Given the description of an element on the screen output the (x, y) to click on. 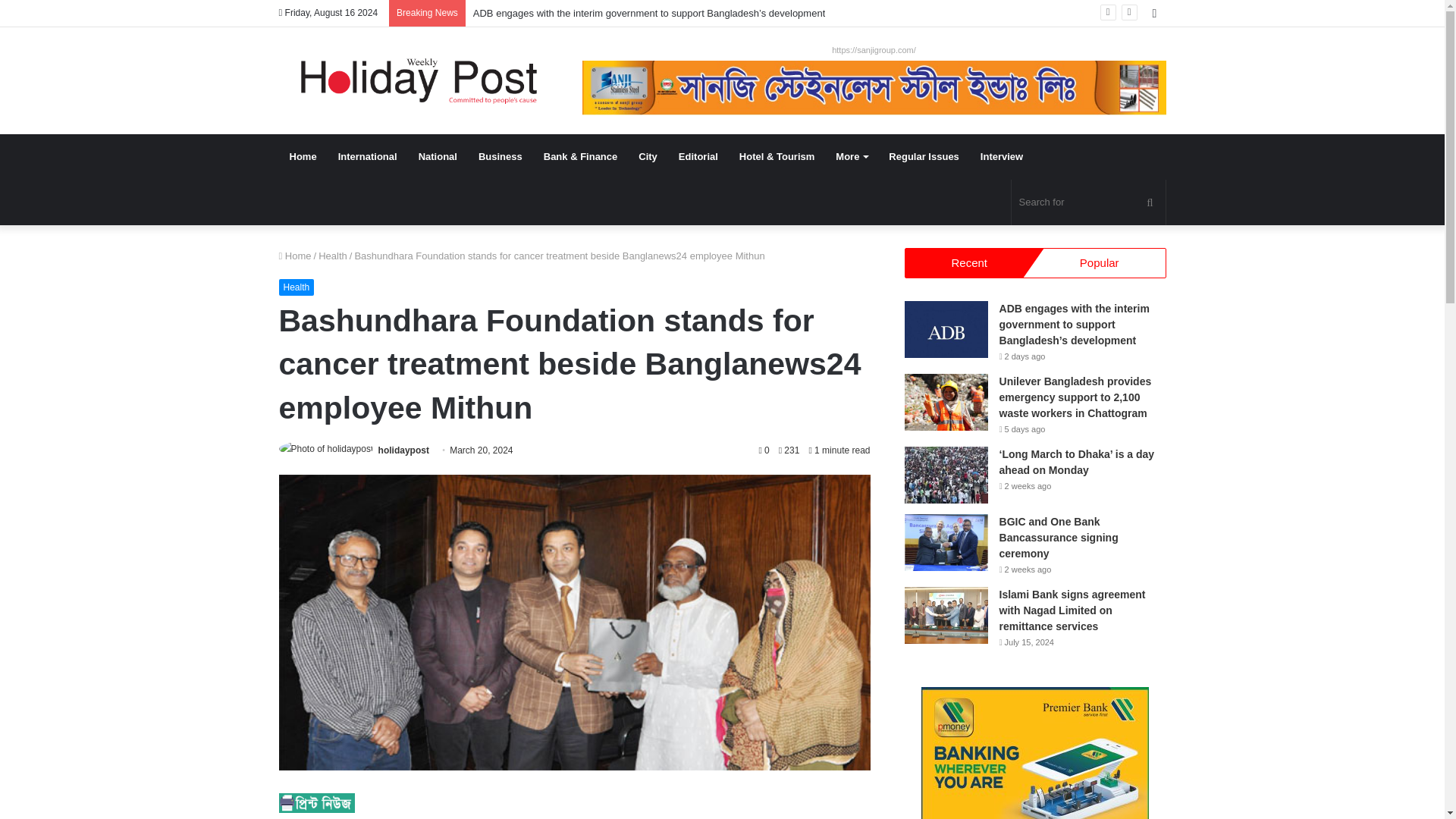
Health (332, 255)
National (437, 156)
Editorial (698, 156)
Interview (1001, 156)
More (851, 156)
Business (499, 156)
Regular Issues (923, 156)
Holiday Post (419, 80)
International (367, 156)
Home (303, 156)
